Given the description of an element on the screen output the (x, y) to click on. 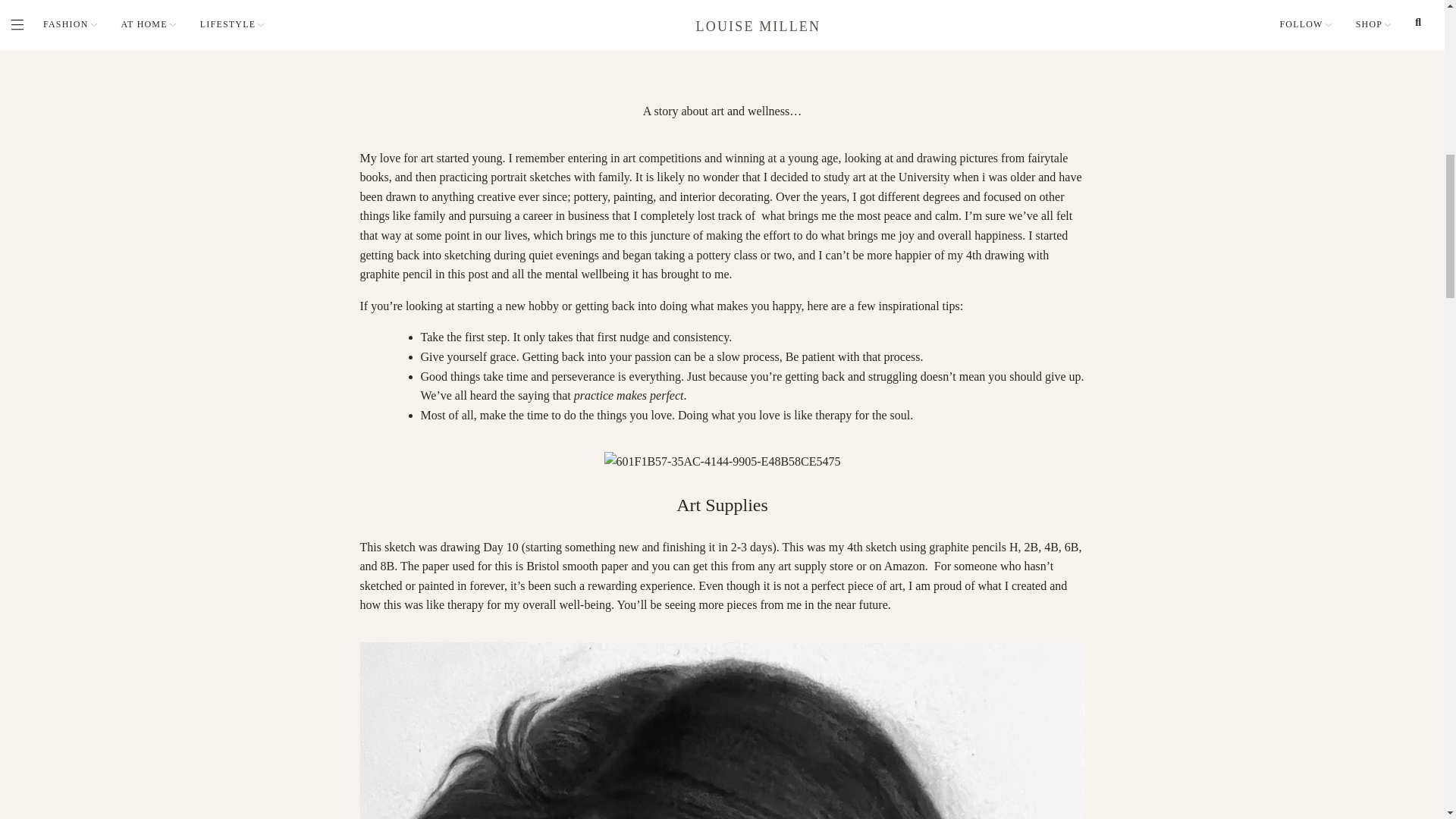
601F1B57-35AC-4144-9905-E48B58CE5475 (722, 461)
